Given the description of an element on the screen output the (x, y) to click on. 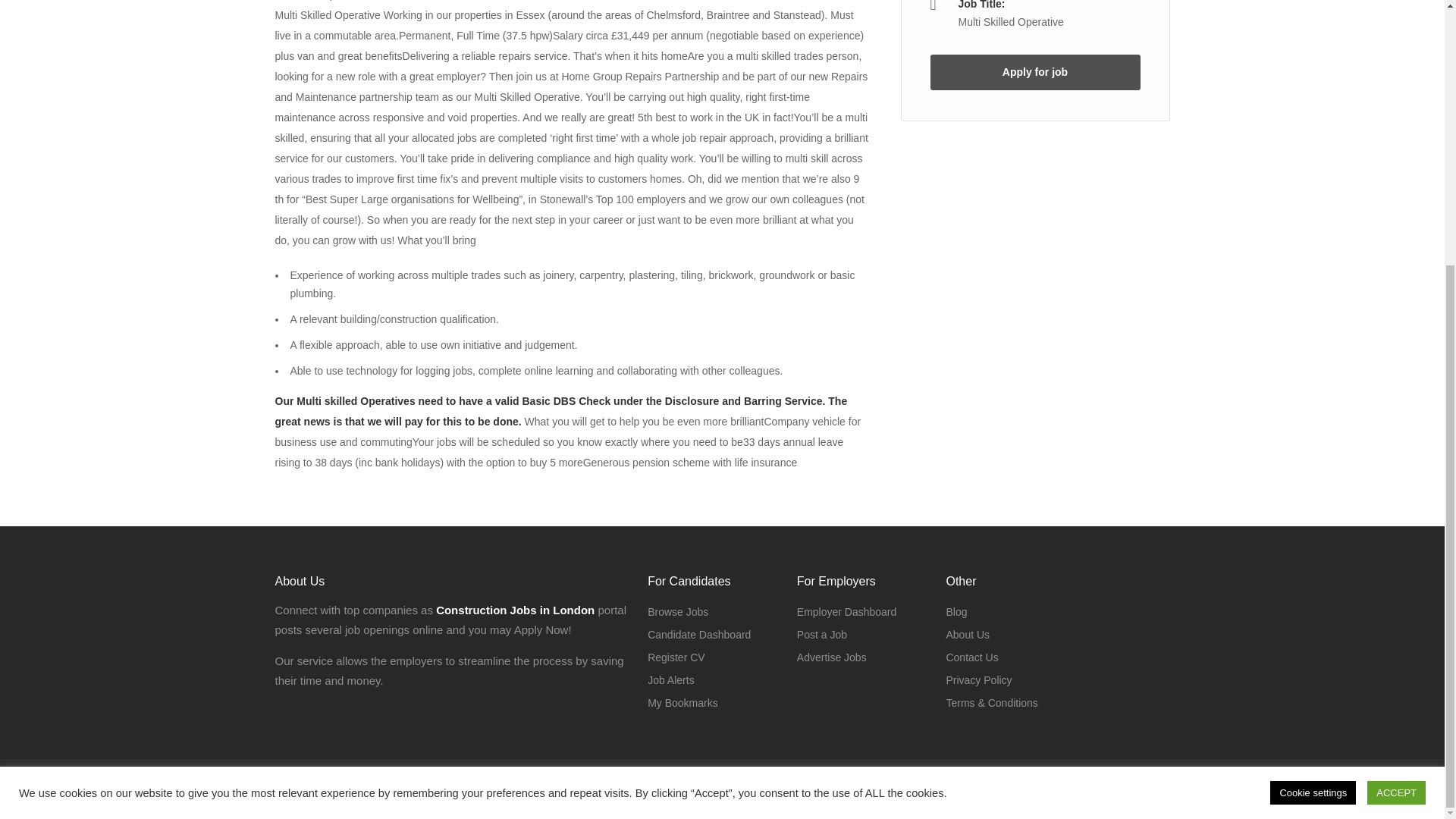
Privacy Policy (977, 680)
Contact Us (970, 657)
Candidate Dashboard (699, 634)
Employer Dashboard (846, 611)
Blog (955, 611)
My Bookmarks (682, 702)
Apply for job (1035, 72)
Job Alerts (670, 680)
Construction Jobs in London (514, 609)
About Us (967, 634)
